Given the description of an element on the screen output the (x, y) to click on. 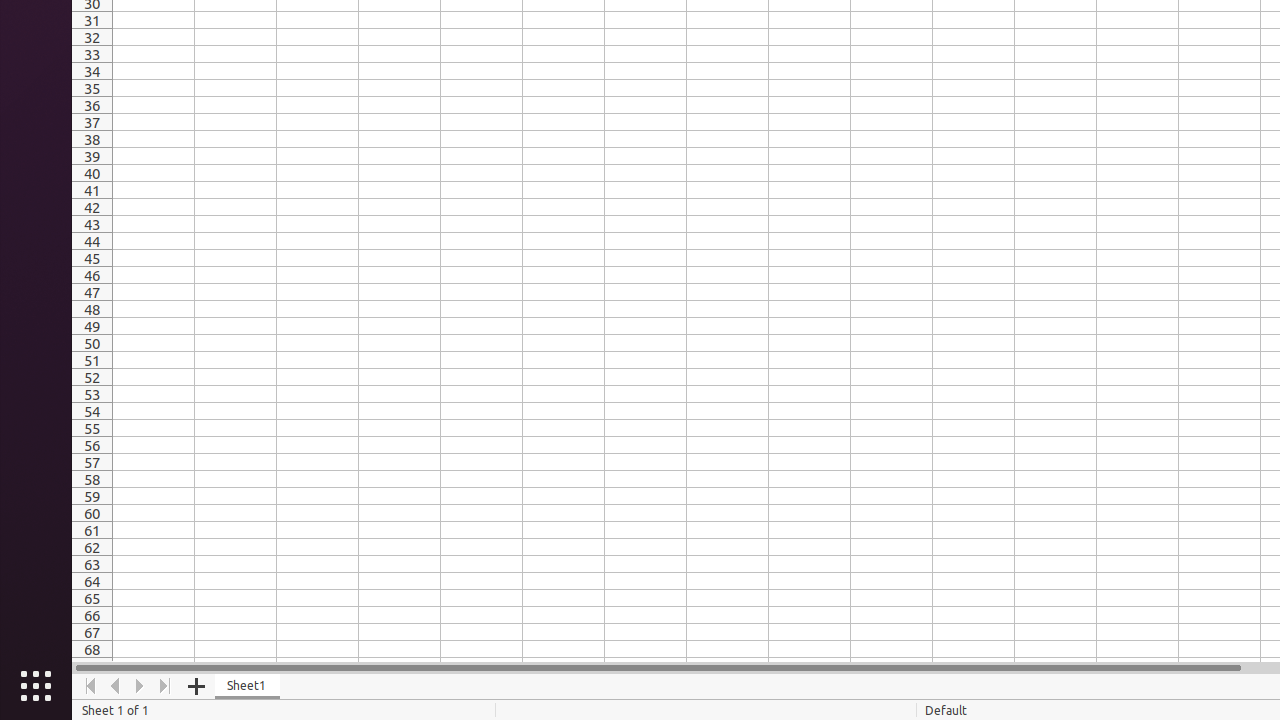
Move To Home Element type: push-button (90, 686)
Move To End Element type: push-button (165, 686)
Sheet1 Element type: page-tab (247, 686)
Move Right Element type: push-button (140, 686)
